Given the description of an element on the screen output the (x, y) to click on. 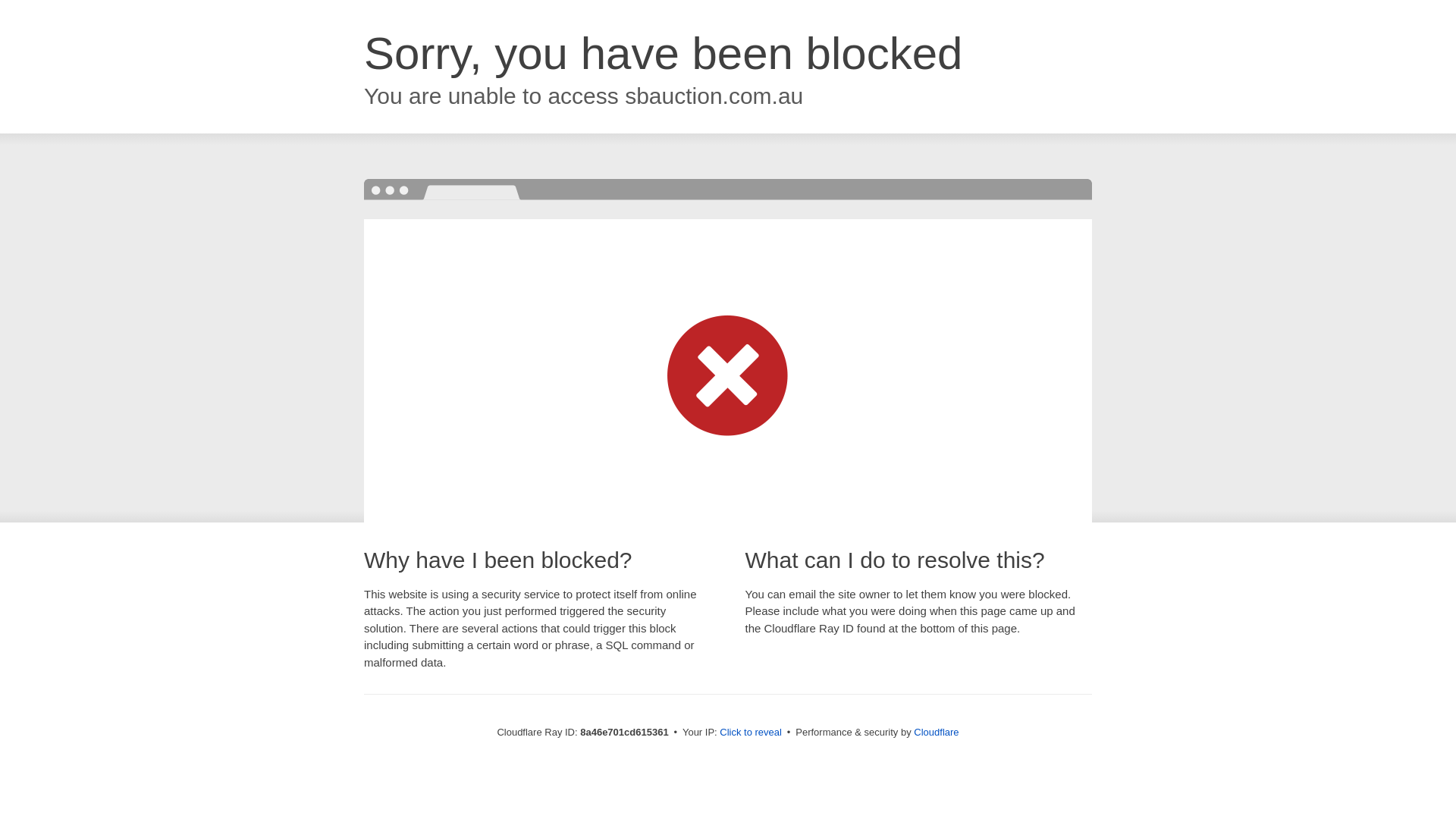
Cloudflare (936, 731)
Click to reveal (750, 732)
